Given the description of an element on the screen output the (x, y) to click on. 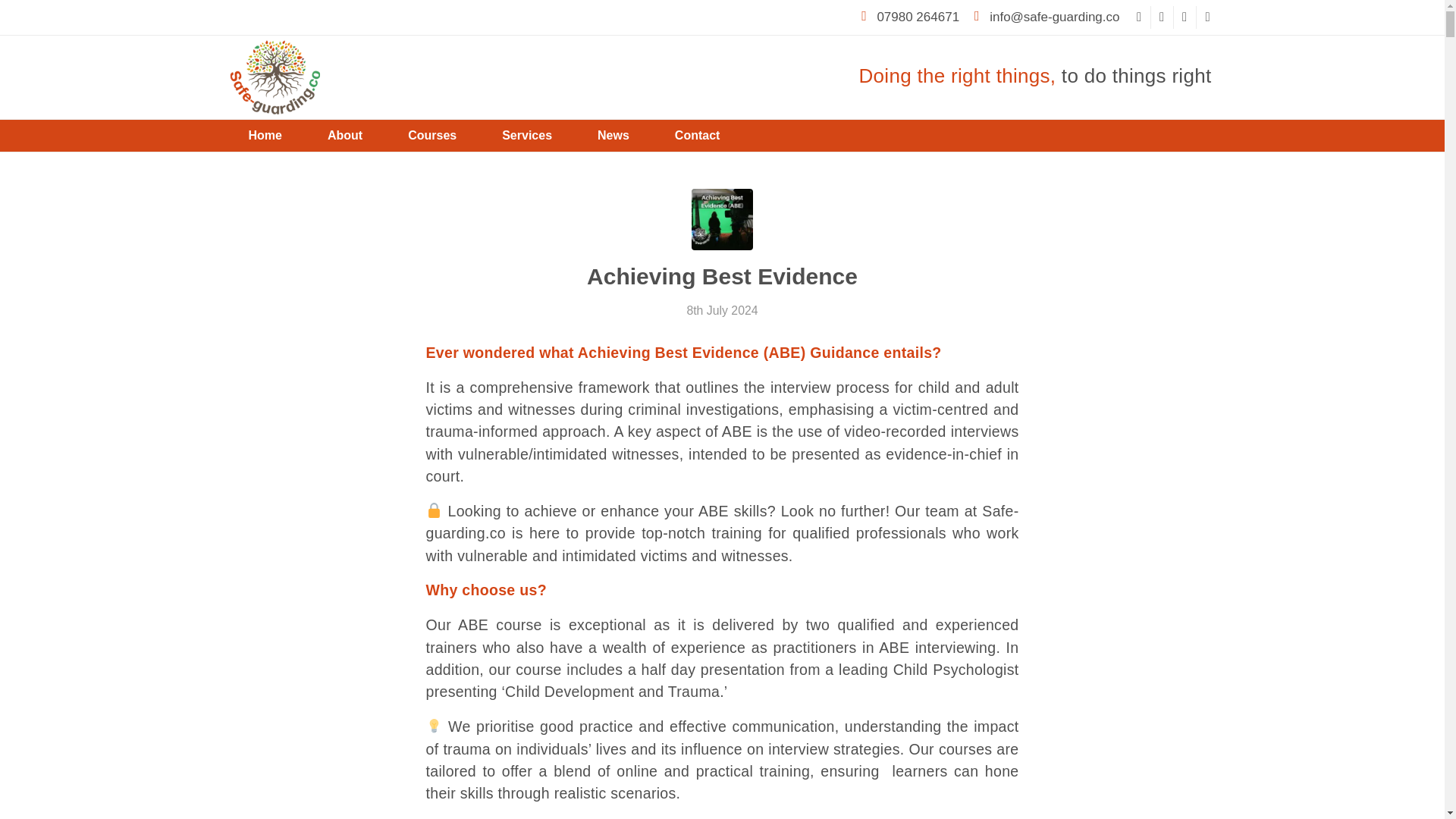
Courses (432, 135)
News (613, 135)
Achieving Best Evidence (721, 276)
Contact (697, 135)
X (1208, 16)
07980 264671 (915, 16)
Services (527, 135)
Instagram (1162, 16)
About (344, 135)
Home (264, 135)
Permanent Link: Achieving Best Evidence (721, 276)
Facebook (1139, 16)
LinkedIn (1184, 16)
ABE (721, 219)
Safe-guarding Logo (274, 77)
